Given the description of an element on the screen output the (x, y) to click on. 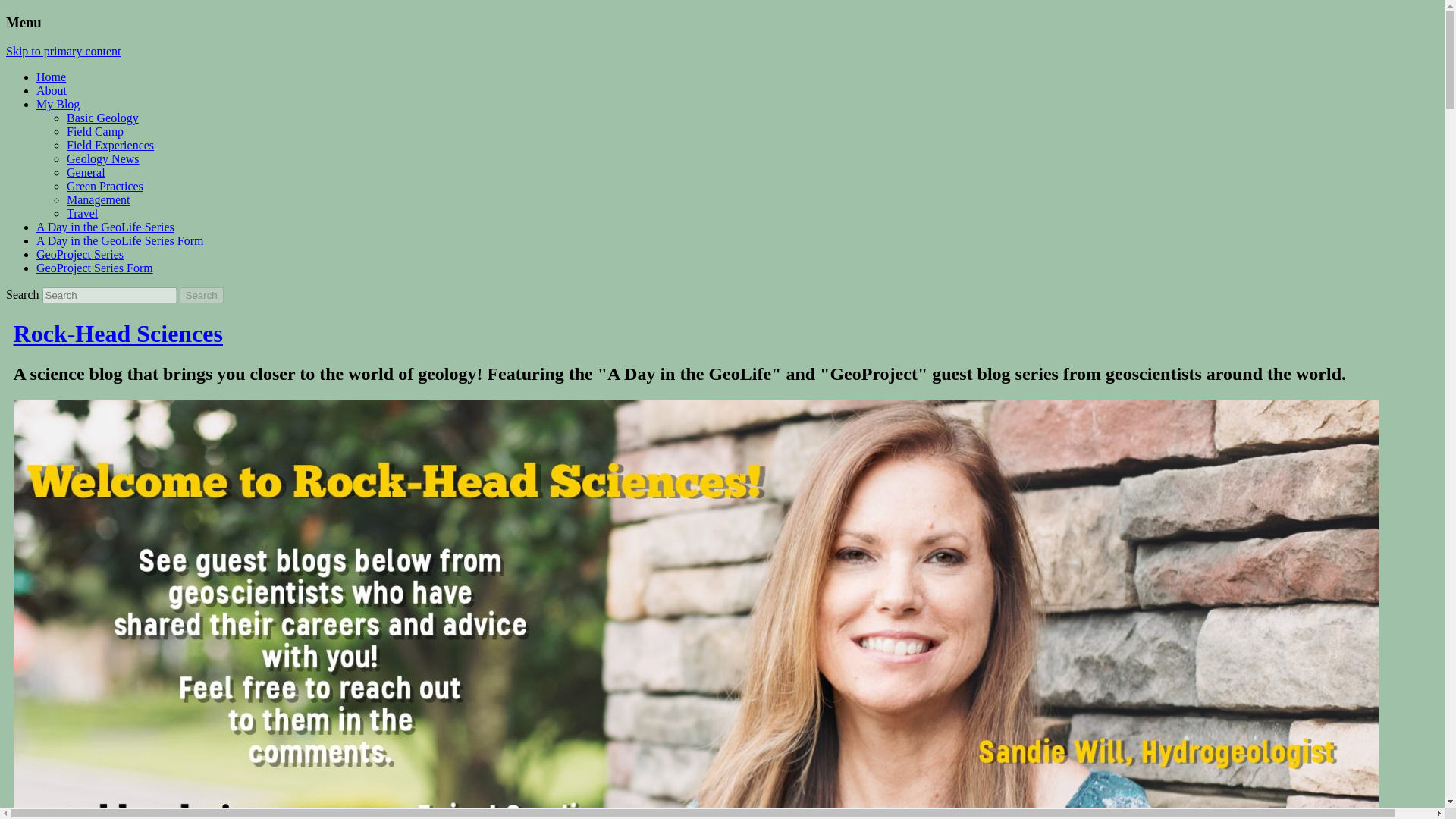
Green Practices (104, 185)
Management (98, 199)
A Day in the GeoLife Series Form (119, 240)
Travel (81, 213)
Field Experiences (110, 144)
Home (50, 76)
Search (201, 295)
GeoProject Series Form (94, 267)
GeoProject Series (79, 254)
Skip to primary content (62, 51)
Basic Geology (102, 117)
My Blog (58, 103)
Rock-Head Sciences (117, 333)
A Day in the GeoLife Series (105, 226)
Rock-Head Sciences (117, 333)
